Given the description of an element on the screen output the (x, y) to click on. 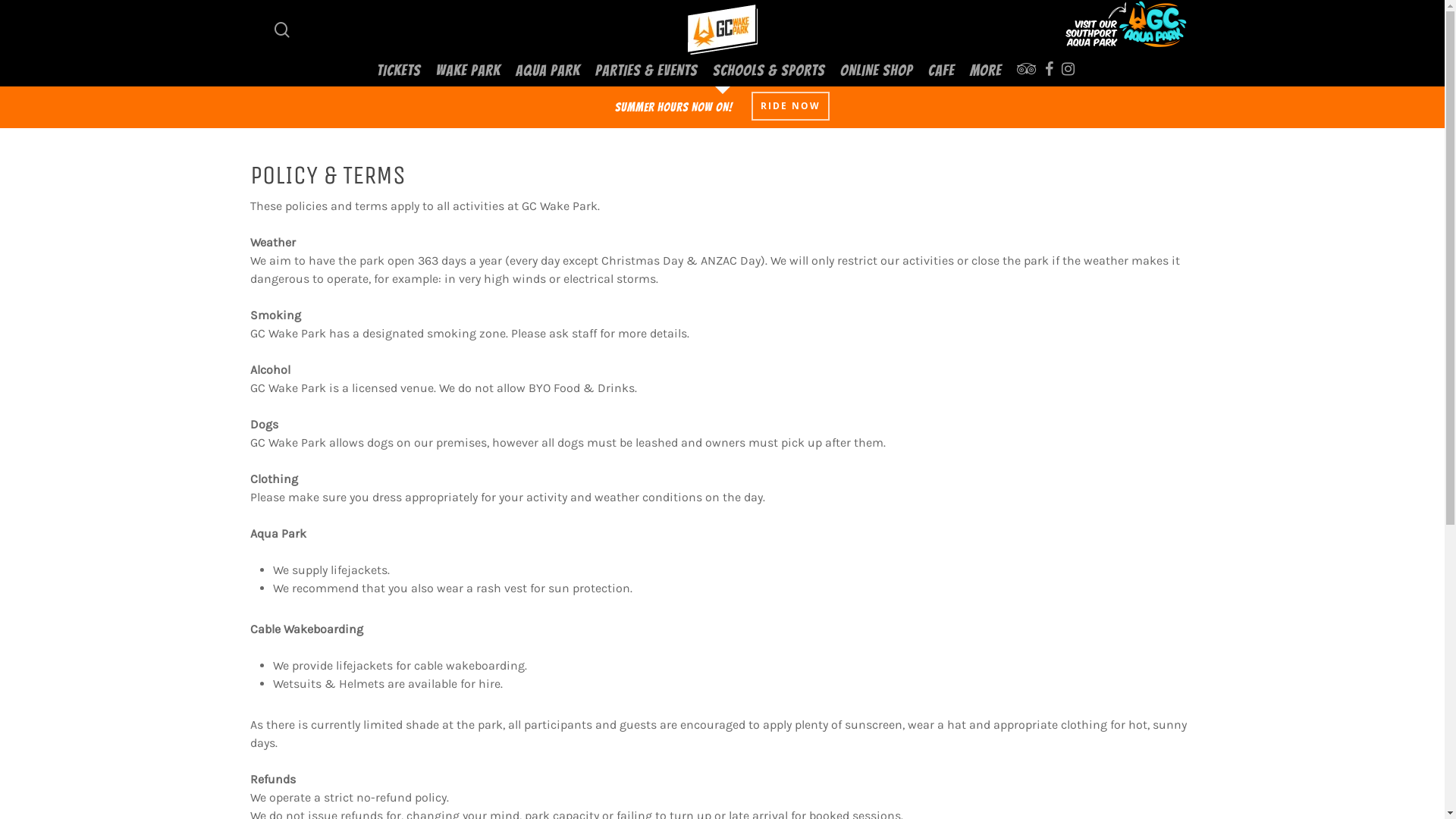
CAFE Element type: text (941, 70)
MORE Element type: text (985, 70)
AQUA PARK Element type: text (547, 70)
RIDE NOW Element type: text (790, 105)
PARTIES & EVENTS Element type: text (646, 70)
WAKE PARK Element type: text (468, 70)
SCHOOLS & SPORTS Element type: text (768, 70)
ONLINE SHOP Element type: text (876, 70)
search Element type: text (282, 29)
TICKETS Element type: text (398, 70)
